Given the description of an element on the screen output the (x, y) to click on. 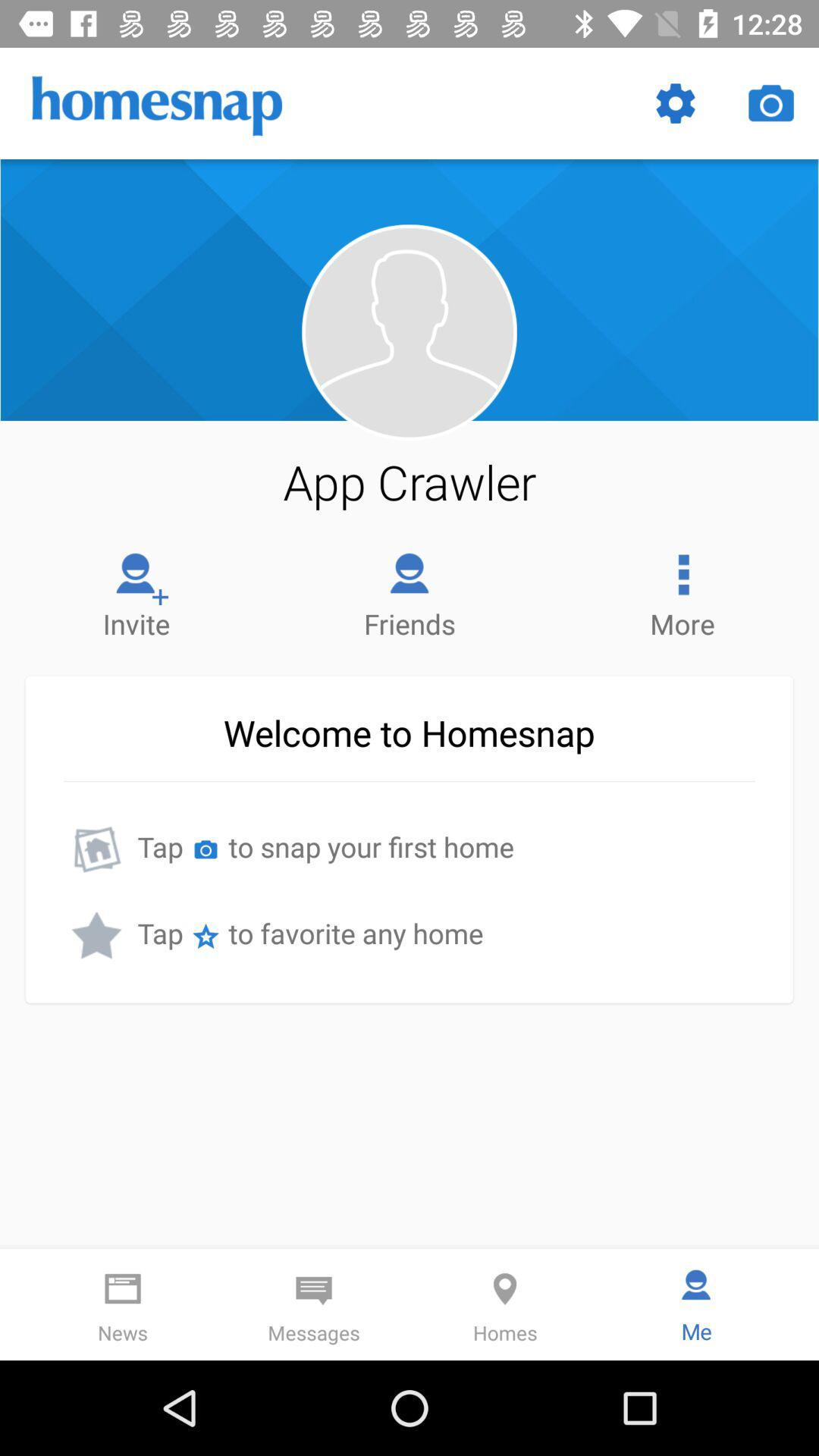
turn off the more item (682, 591)
